Given the description of an element on the screen output the (x, y) to click on. 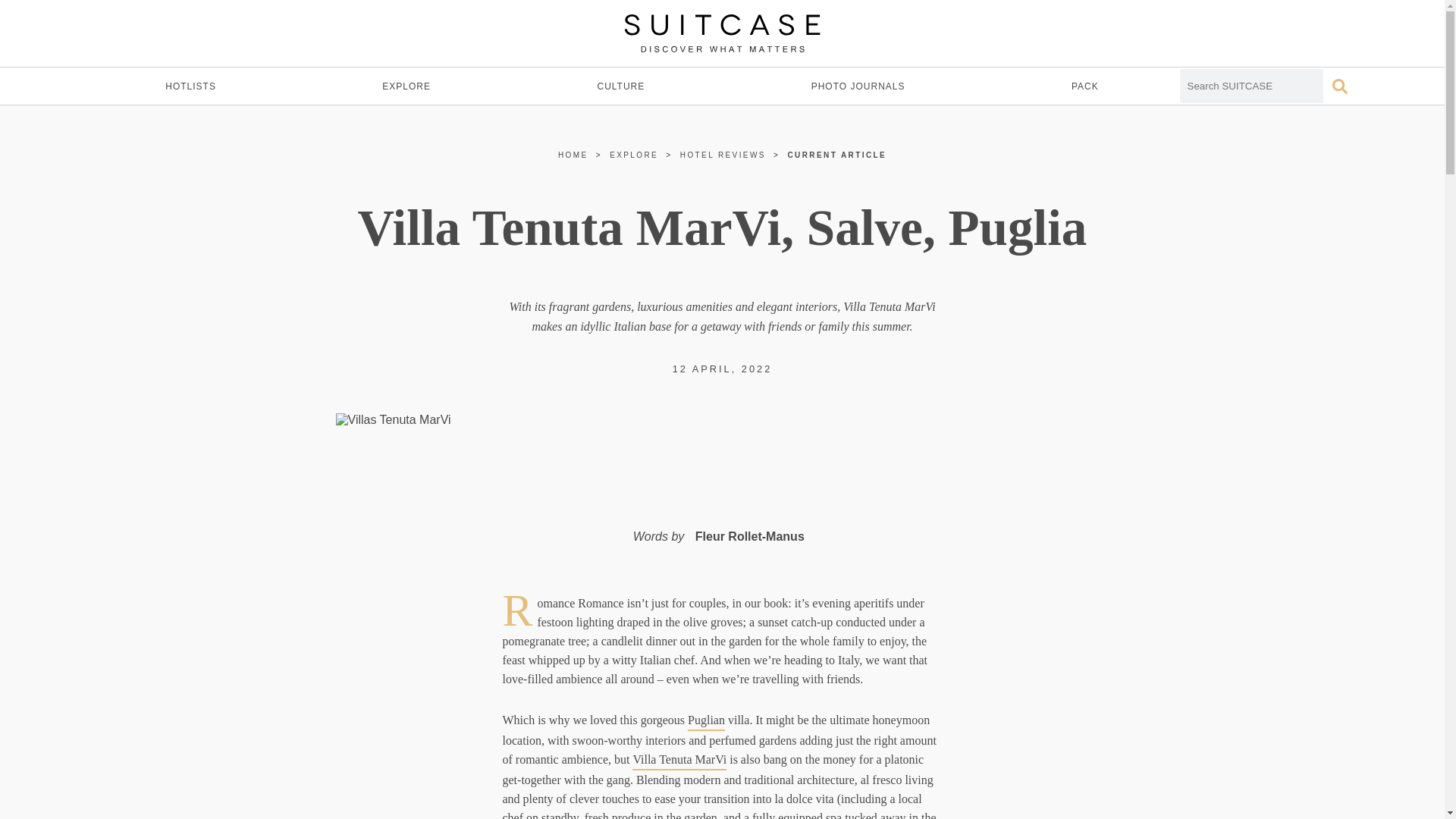
HOME (572, 154)
HOTEL REVIEWS (722, 154)
Puglian (706, 720)
PACK (1085, 85)
CULTURE (619, 85)
CURRENT ARTICLE (836, 154)
Fleur Rollet-Manus (750, 537)
PHOTO JOURNALS (858, 85)
Villa Tenuta MarVi (678, 760)
EXPLORE (634, 154)
EXPLORE (405, 85)
HOTLISTS (190, 85)
